Given the description of an element on the screen output the (x, y) to click on. 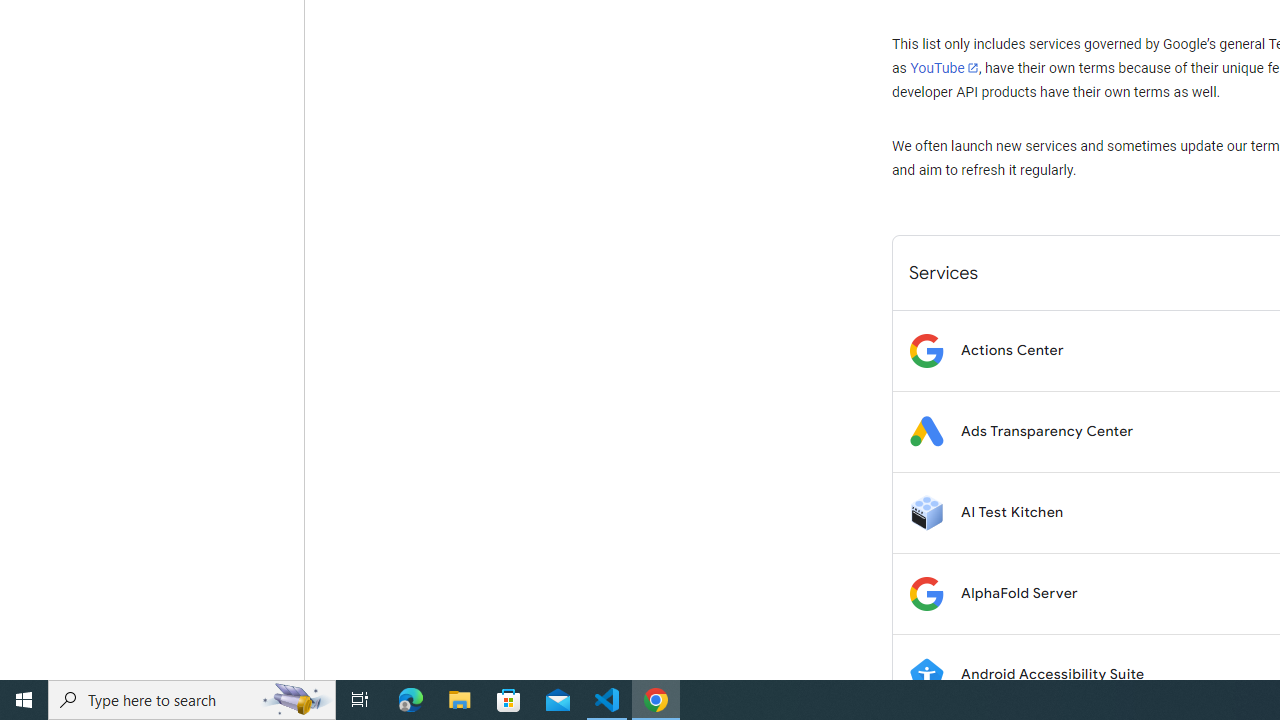
YouTube (944, 68)
Logo for AlphaFold Server (926, 593)
Logo for Ads Transparency Center (926, 431)
Logo for Actions Center (926, 349)
Logo for AI Test Kitchen (926, 512)
Logo for Android Accessibility Suite (926, 673)
